Given the description of an element on the screen output the (x, y) to click on. 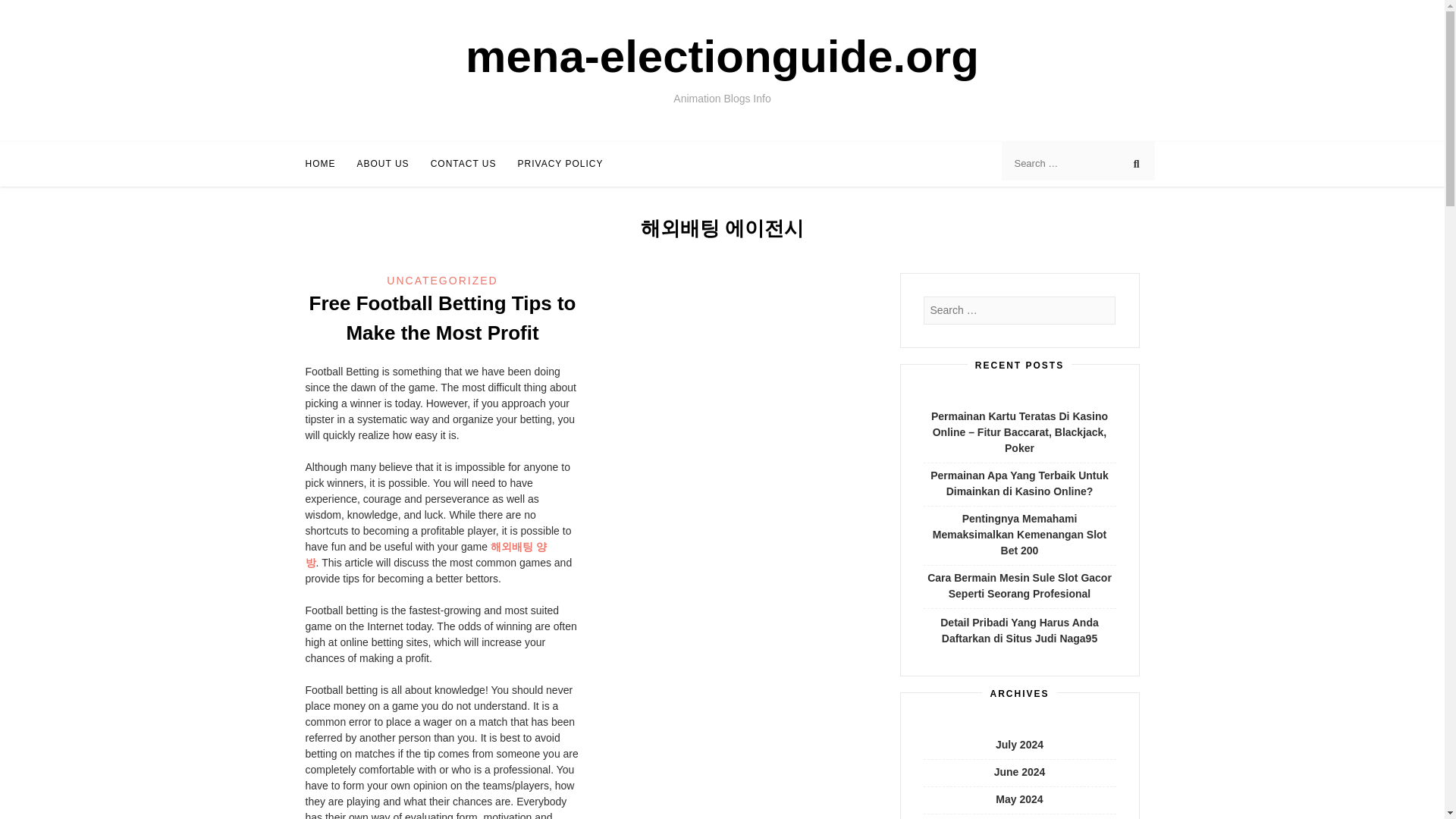
PRIVACY POLICY (561, 163)
July 2024 (1019, 744)
Free Football Betting Tips to Make the Most Profit (442, 317)
ABOUT US (382, 163)
May 2024 (1018, 799)
mena-electionguide.org (721, 56)
Pentingnya Memahami Memaksimalkan Kemenangan Slot Bet 200 (1019, 534)
CONTACT US (463, 163)
June 2024 (1019, 771)
Search (26, 12)
Permainan Apa Yang Terbaik Untuk Dimainkan di Kasino Online? (1019, 483)
UNCATEGORIZED (442, 280)
